Given the description of an element on the screen output the (x, y) to click on. 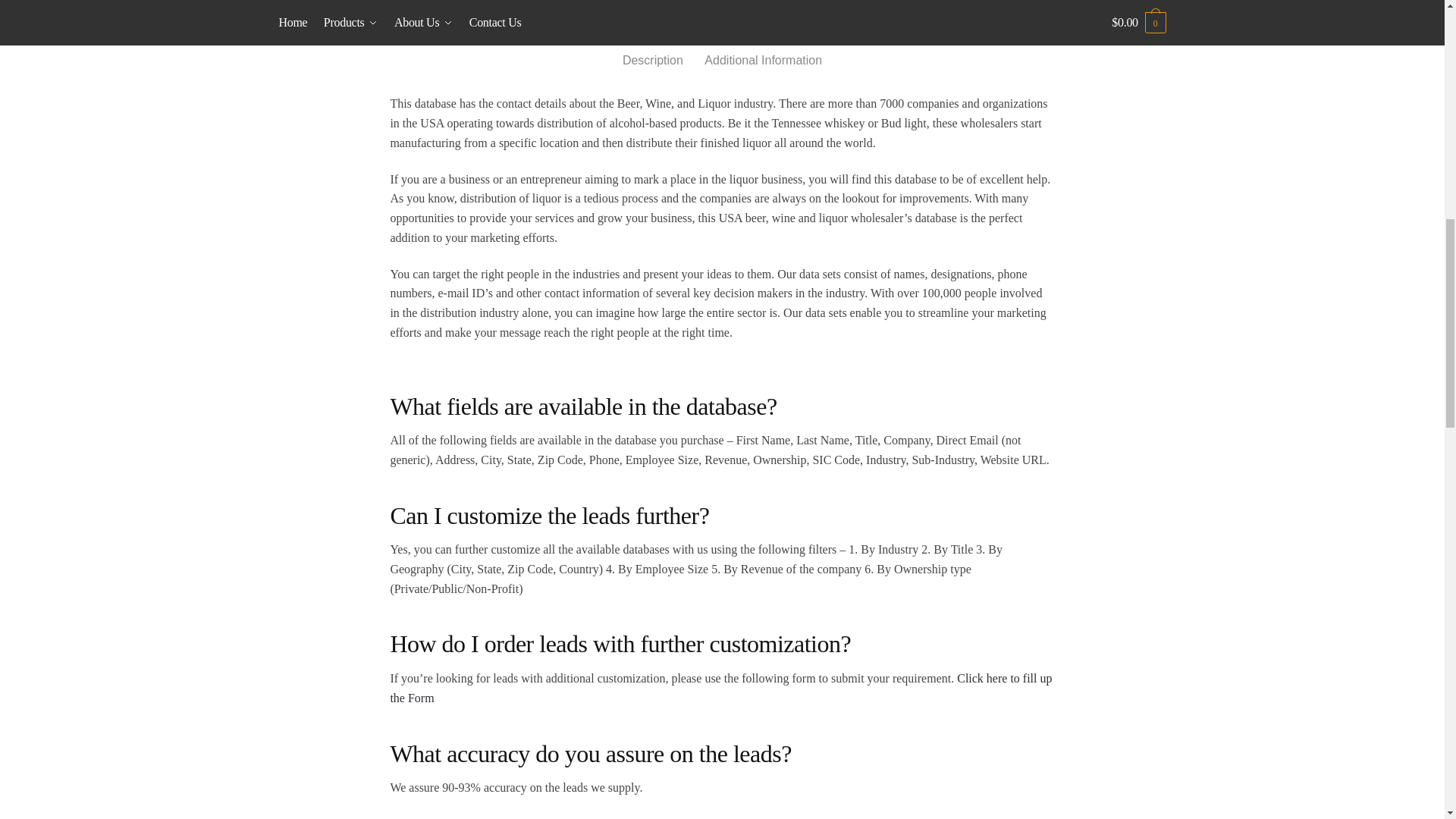
Description (652, 48)
Select options (1120, 203)
Click here to fill up the Form (720, 687)
Additional Information (763, 48)
